Given the description of an element on the screen output the (x, y) to click on. 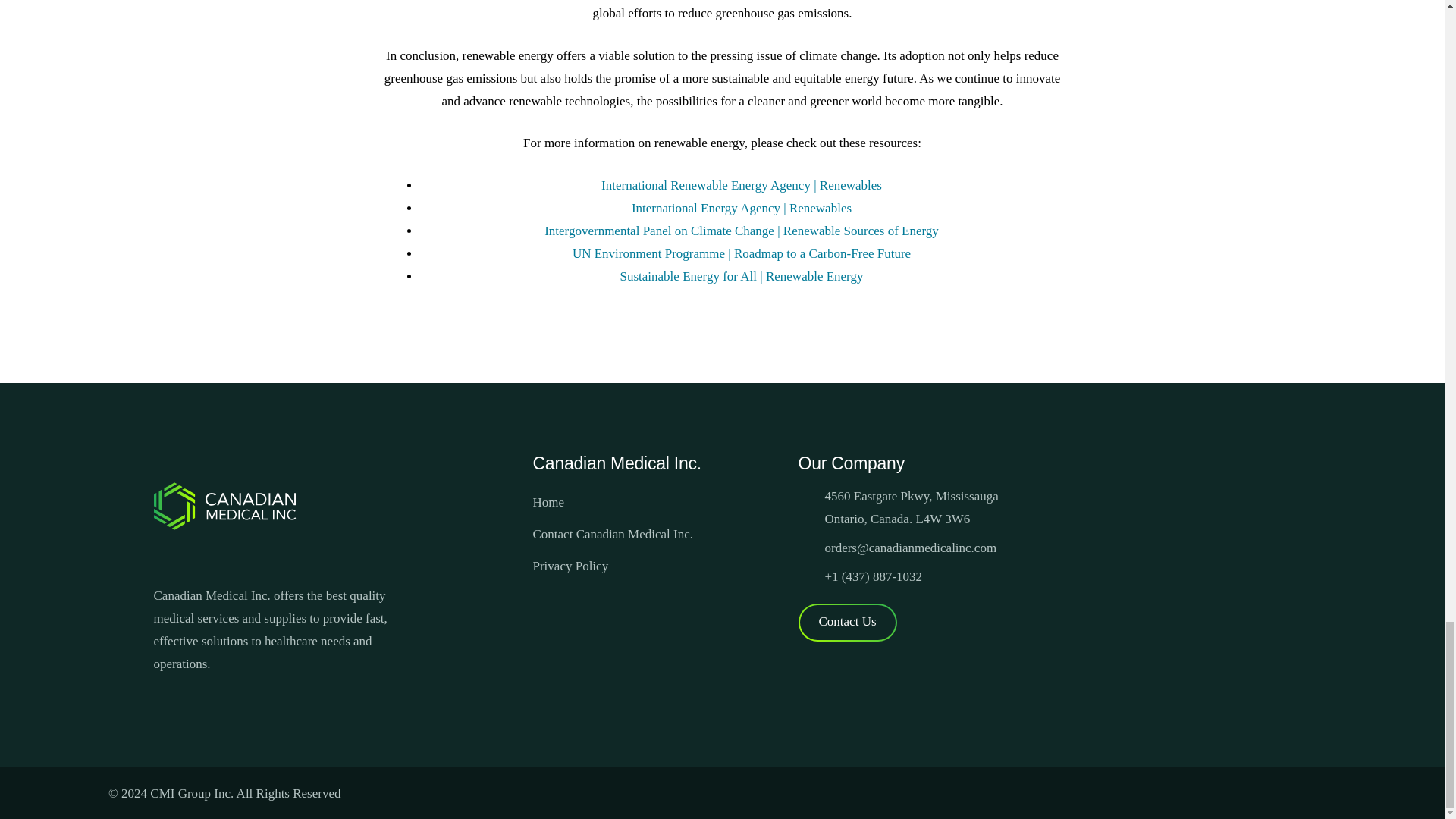
Contact Us (846, 622)
Contact Canadian Medical Inc. (612, 534)
Home (548, 502)
Privacy Policy (570, 565)
